Given the description of an element on the screen output the (x, y) to click on. 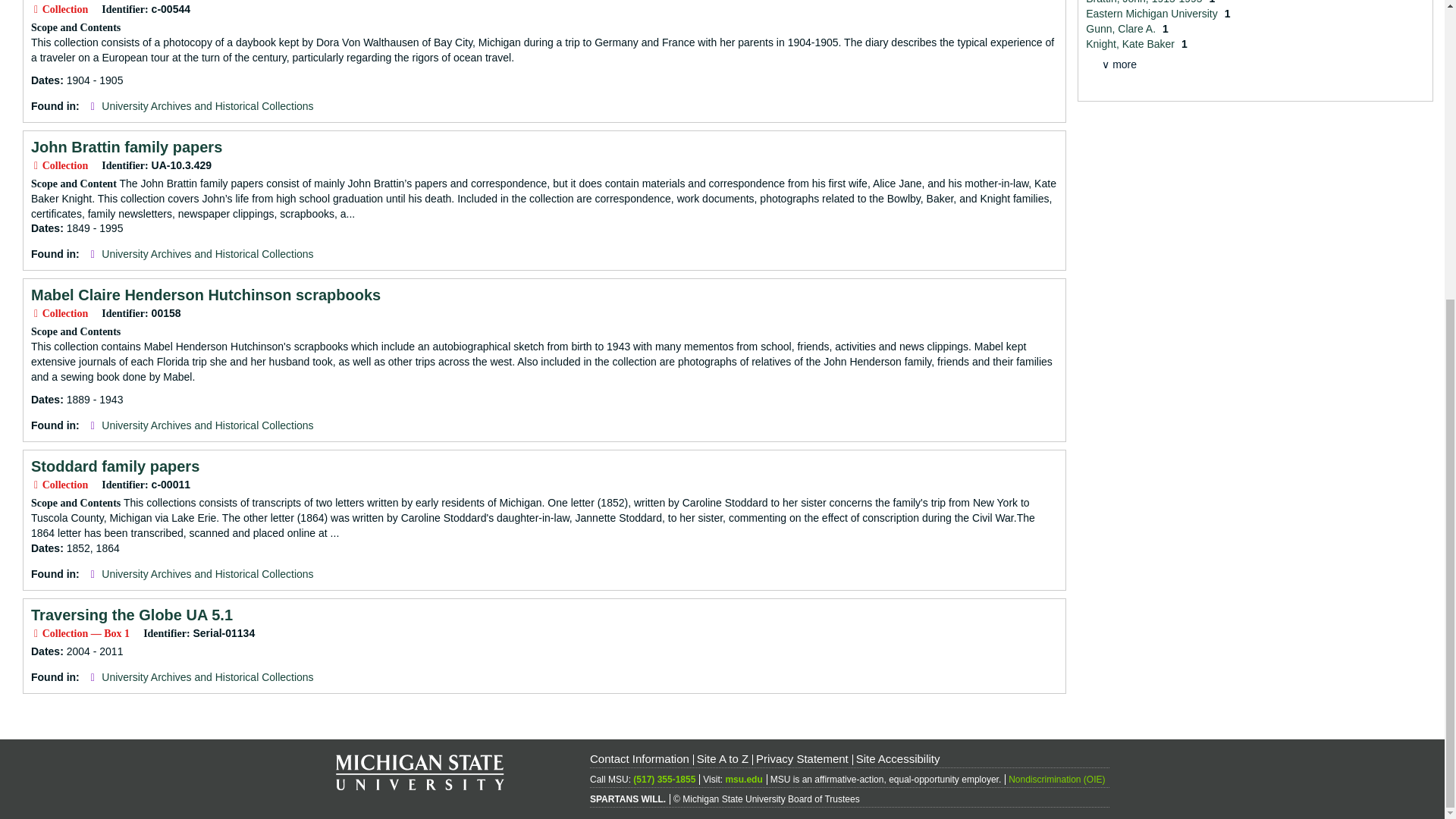
Gunn, Clare A. (1122, 28)
Filter By 'Eastern Michigan University' (1153, 13)
John Brattin family papers (126, 146)
Knight, Kate Baker (1131, 43)
Brattin, John, 1915-1995 (1145, 2)
University Archives and Historical Collections (207, 676)
University Archives and Historical Collections (207, 254)
Eastern Michigan University (1153, 13)
Filter By 'Gunn, Clare A.' (1122, 28)
Filter By 'Brattin, John, 1915-1995' (1145, 2)
